Given the description of an element on the screen output the (x, y) to click on. 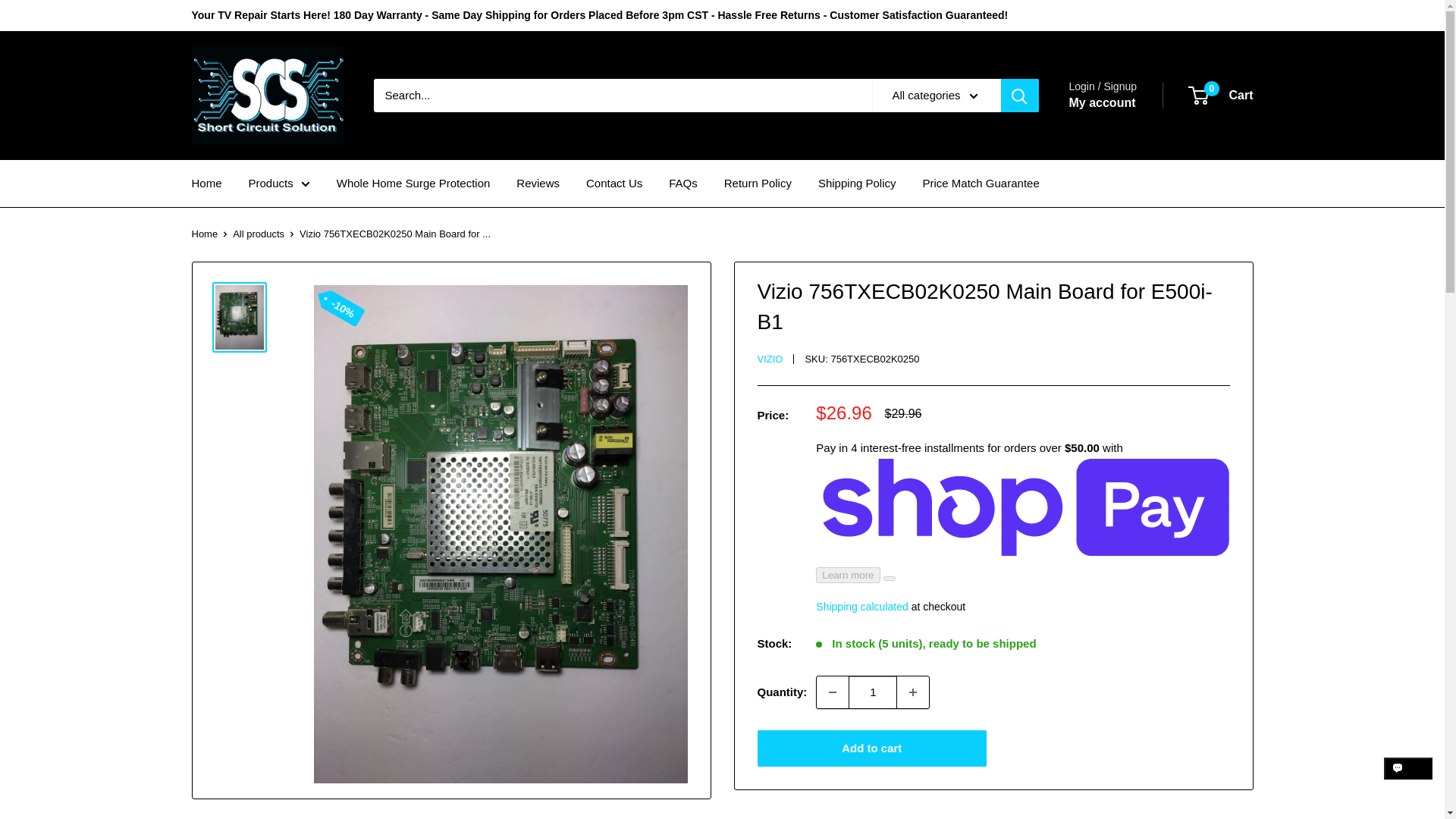
Home (1220, 95)
Decrease quantity by 1 (205, 183)
Products (832, 692)
1 (279, 183)
Short Circuit Solution (872, 692)
Increase quantity by 1 (266, 94)
Shopify online store chat (912, 692)
My account (1408, 781)
